Given the description of an element on the screen output the (x, y) to click on. 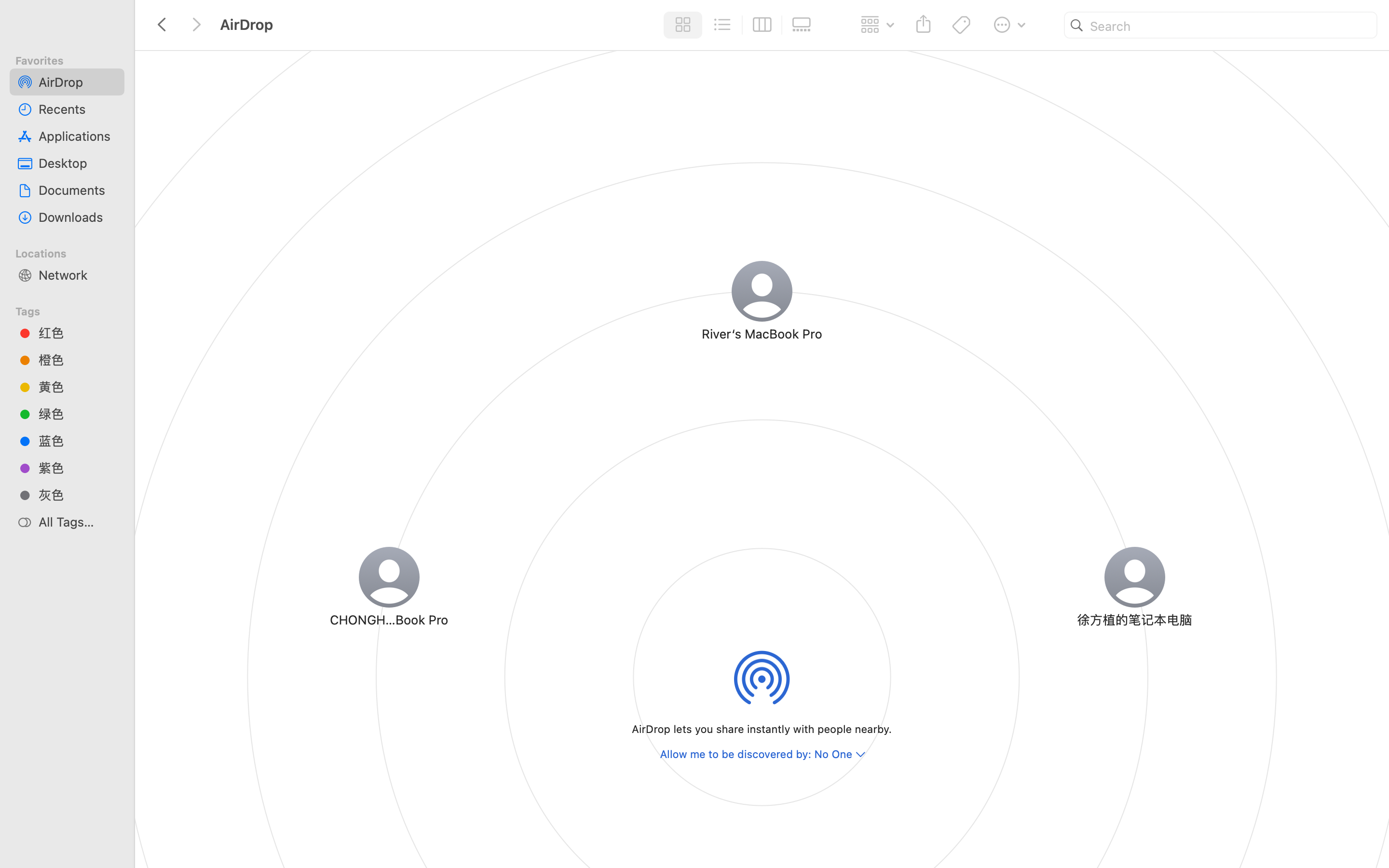
All Tags… Element type: AXStaticText (77, 521)
River‘s MacBook Pro Element type: AXStaticText (761, 333)
橙色 Element type: AXStaticText (77, 359)
Downloads Element type: AXStaticText (77, 216)
Favorites Element type: AXStaticText (72, 59)
